Given the description of an element on the screen output the (x, y) to click on. 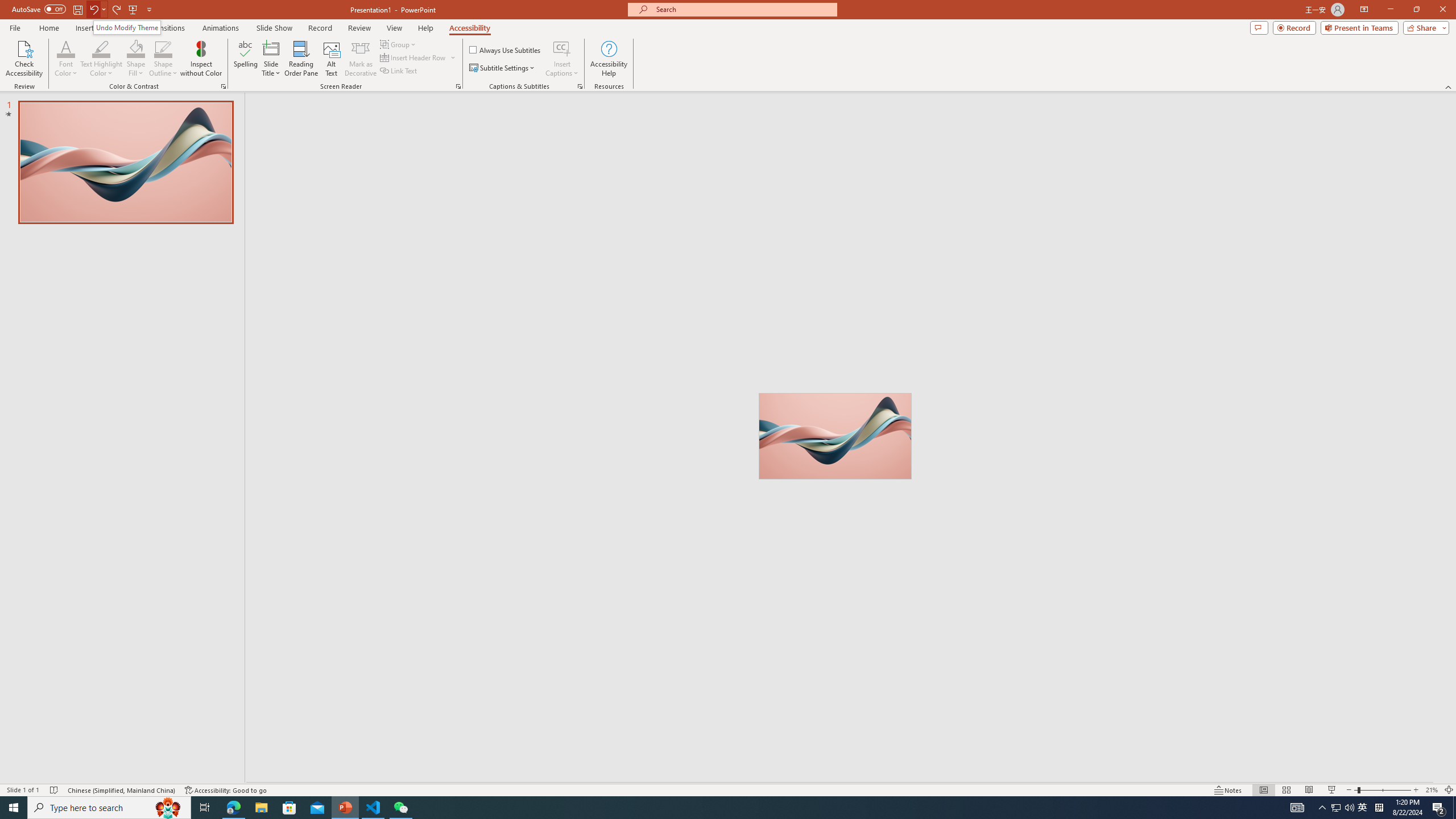
Screen Reader (458, 85)
Slide Title (271, 48)
Zoom 21% (1431, 790)
